Given the description of an element on the screen output the (x, y) to click on. 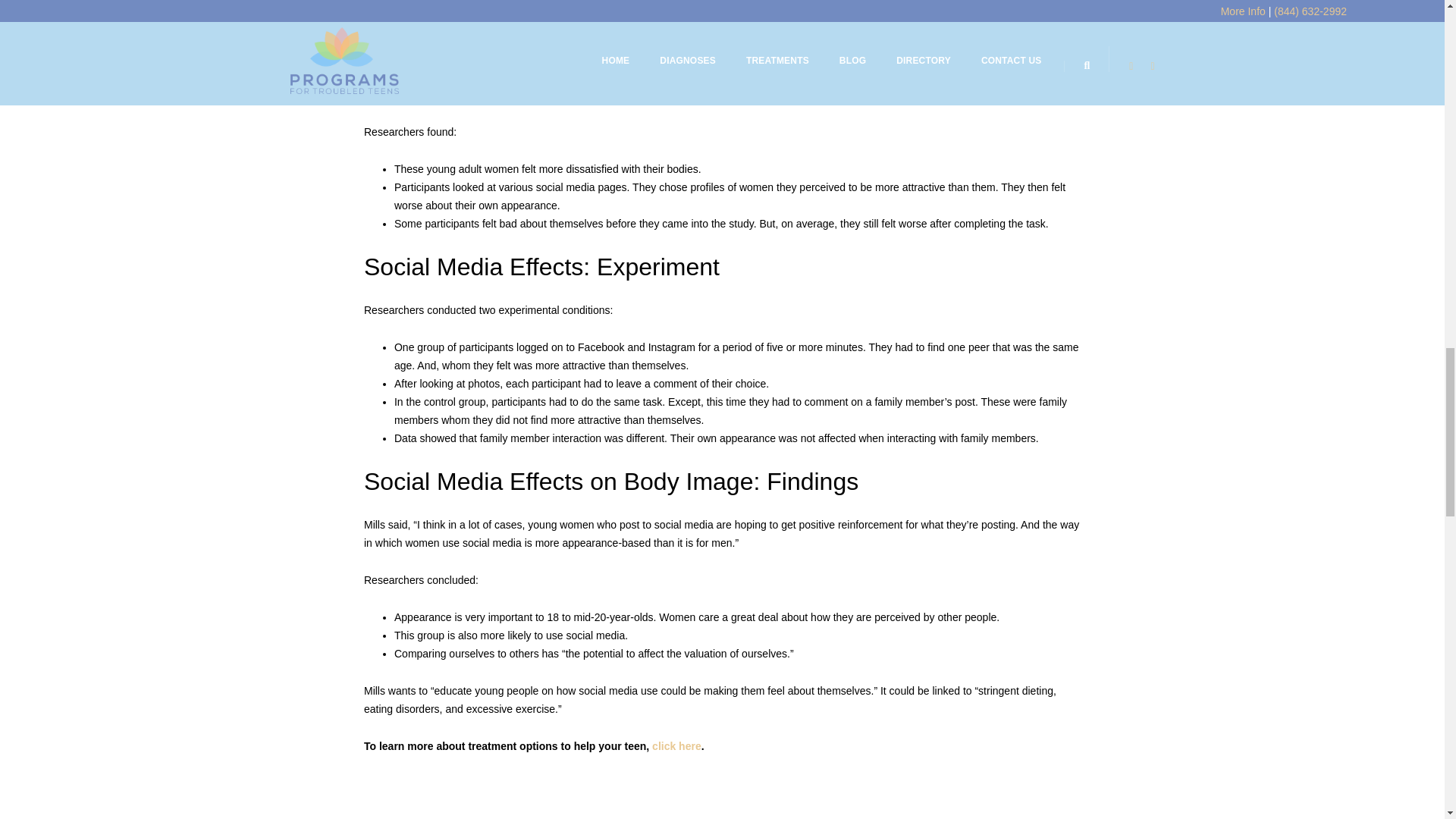
click here (676, 746)
